Given the description of an element on the screen output the (x, y) to click on. 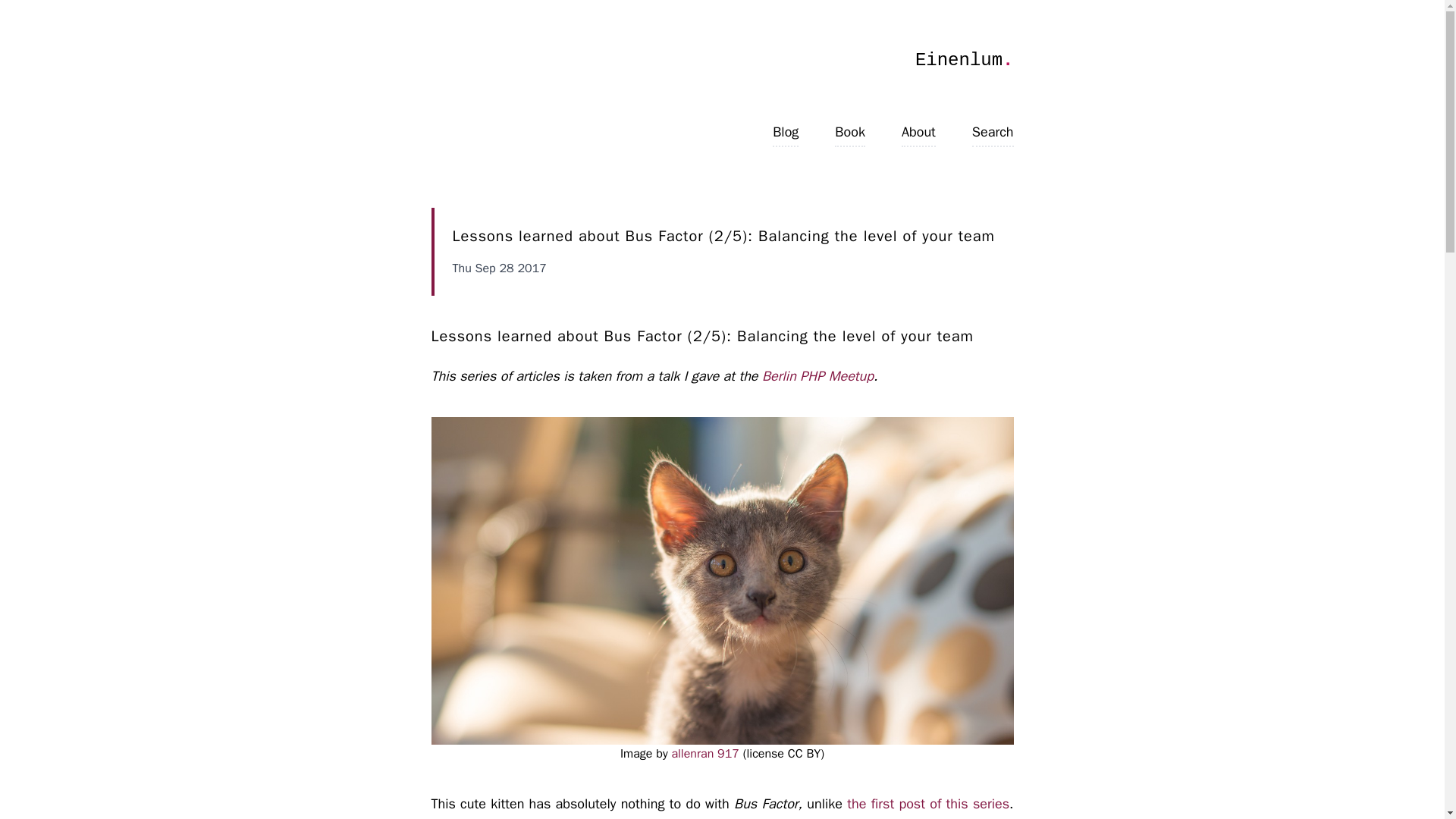
Berlin PHP Meetup (817, 375)
Book (849, 131)
Search (992, 131)
About (918, 131)
the first post of this series (928, 803)
allenran 917 (704, 753)
Blog (785, 131)
